Given the description of an element on the screen output the (x, y) to click on. 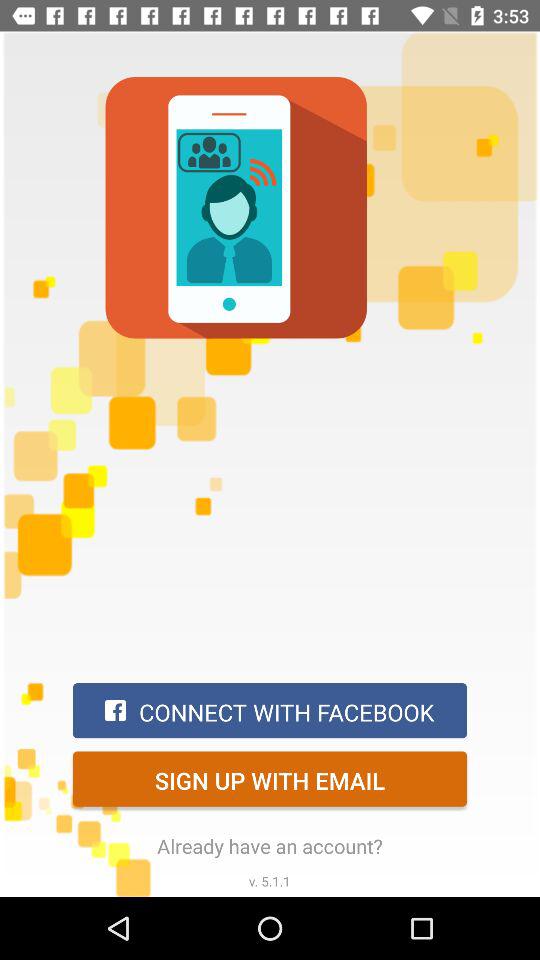
choose the already have an (270, 845)
